Given the description of an element on the screen output the (x, y) to click on. 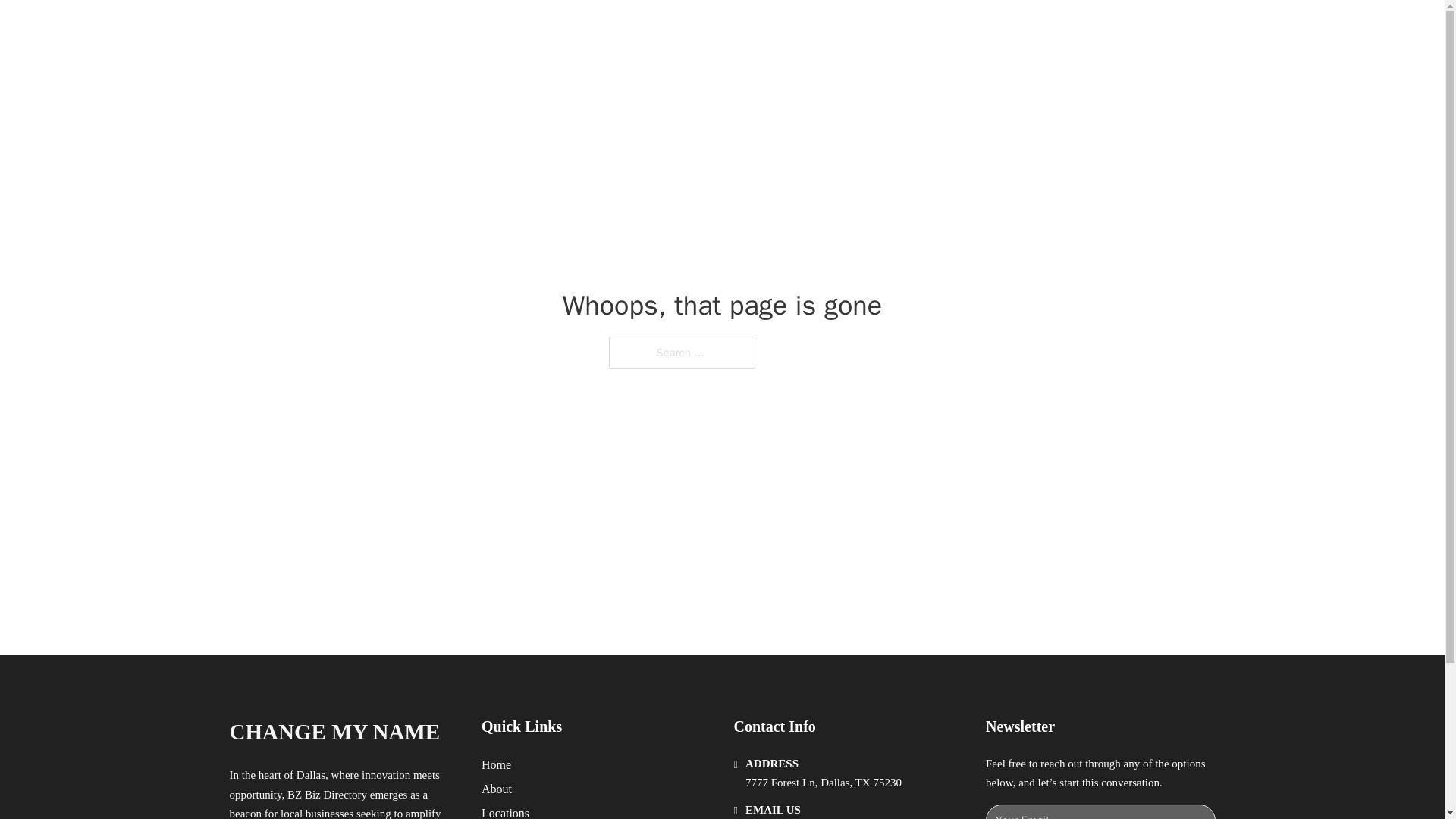
About (496, 788)
Home (496, 764)
Locations (505, 811)
BZ BIZ DIRECTORY (403, 28)
HOME (919, 29)
LOCATIONS (990, 29)
CHANGE MY NAME (333, 732)
